Given the description of an element on the screen output the (x, y) to click on. 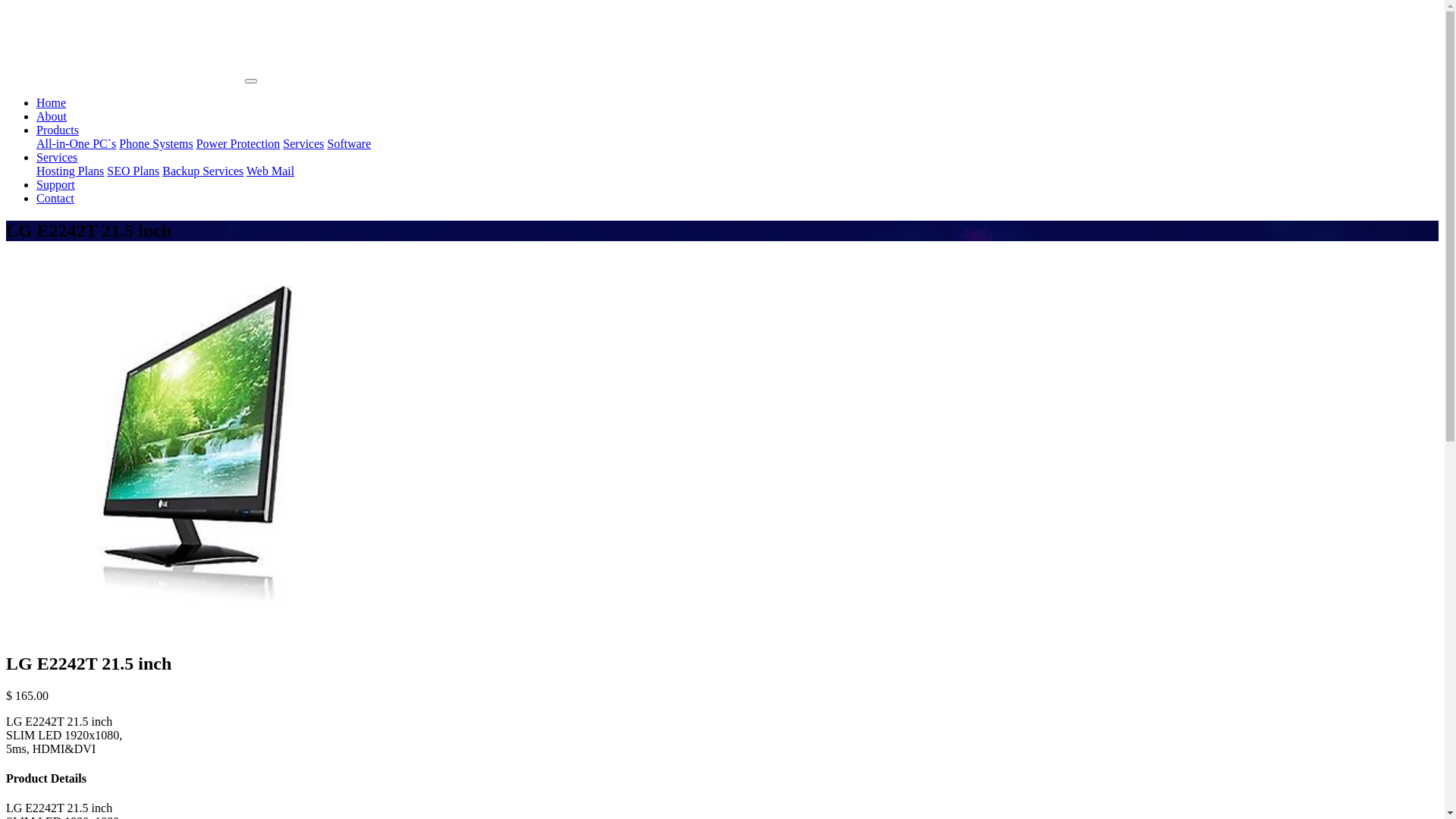
Services Element type: text (56, 156)
Hosting Plans Element type: text (69, 170)
Contact Element type: text (55, 197)
Products Element type: text (57, 129)
Backup Services Element type: text (202, 170)
Web Mail Element type: text (270, 170)
SEO Plans Element type: text (132, 170)
Phone Systems Element type: text (155, 143)
All-in-One PC`s Element type: text (76, 143)
Power Protection Element type: text (238, 143)
Home Element type: text (50, 102)
Support Element type: text (55, 184)
About Element type: text (51, 115)
Services Element type: text (302, 143)
Software Element type: text (349, 143)
